Given the description of an element on the screen output the (x, y) to click on. 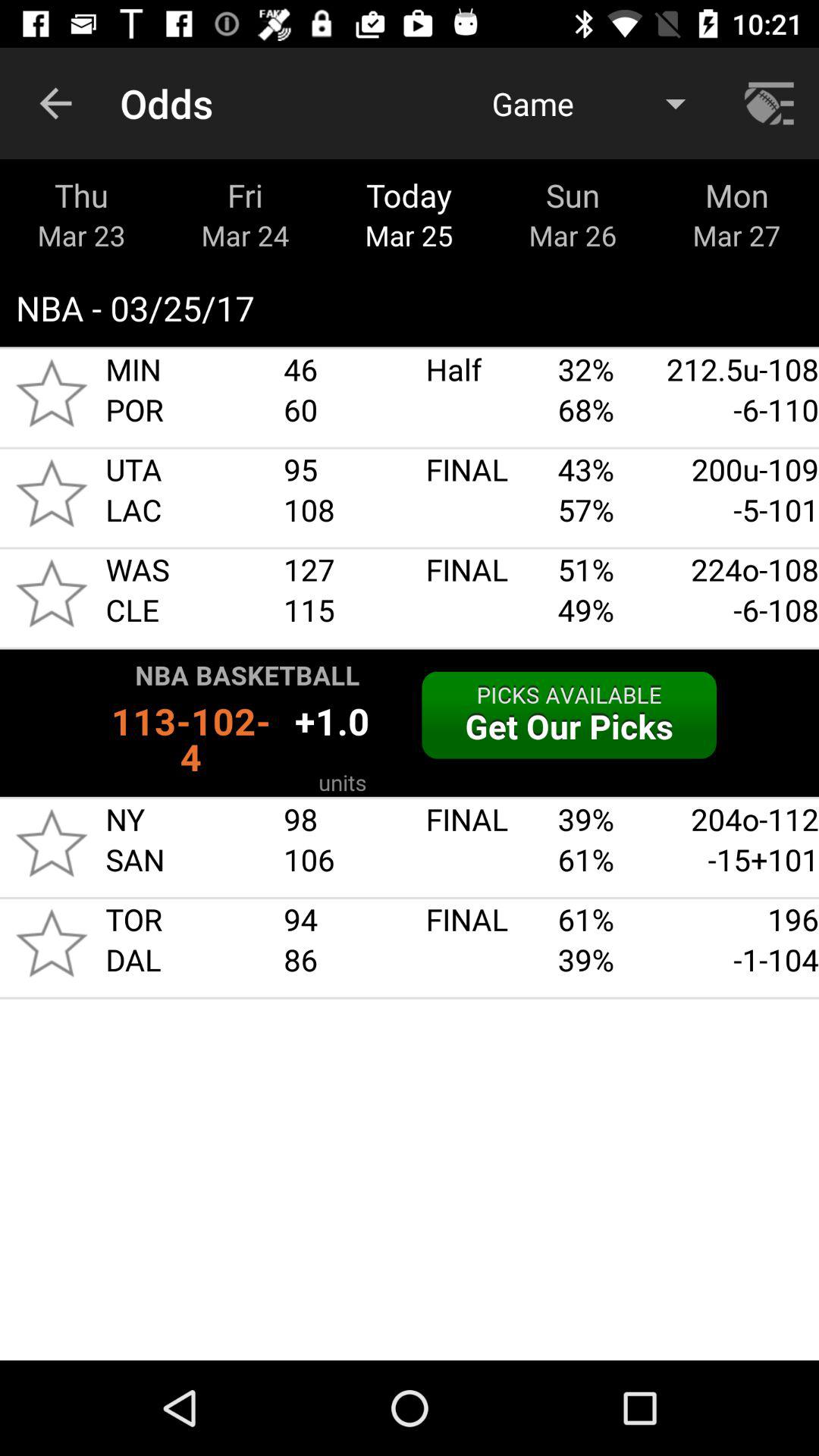
select reting (51, 492)
